Given the description of an element on the screen output the (x, y) to click on. 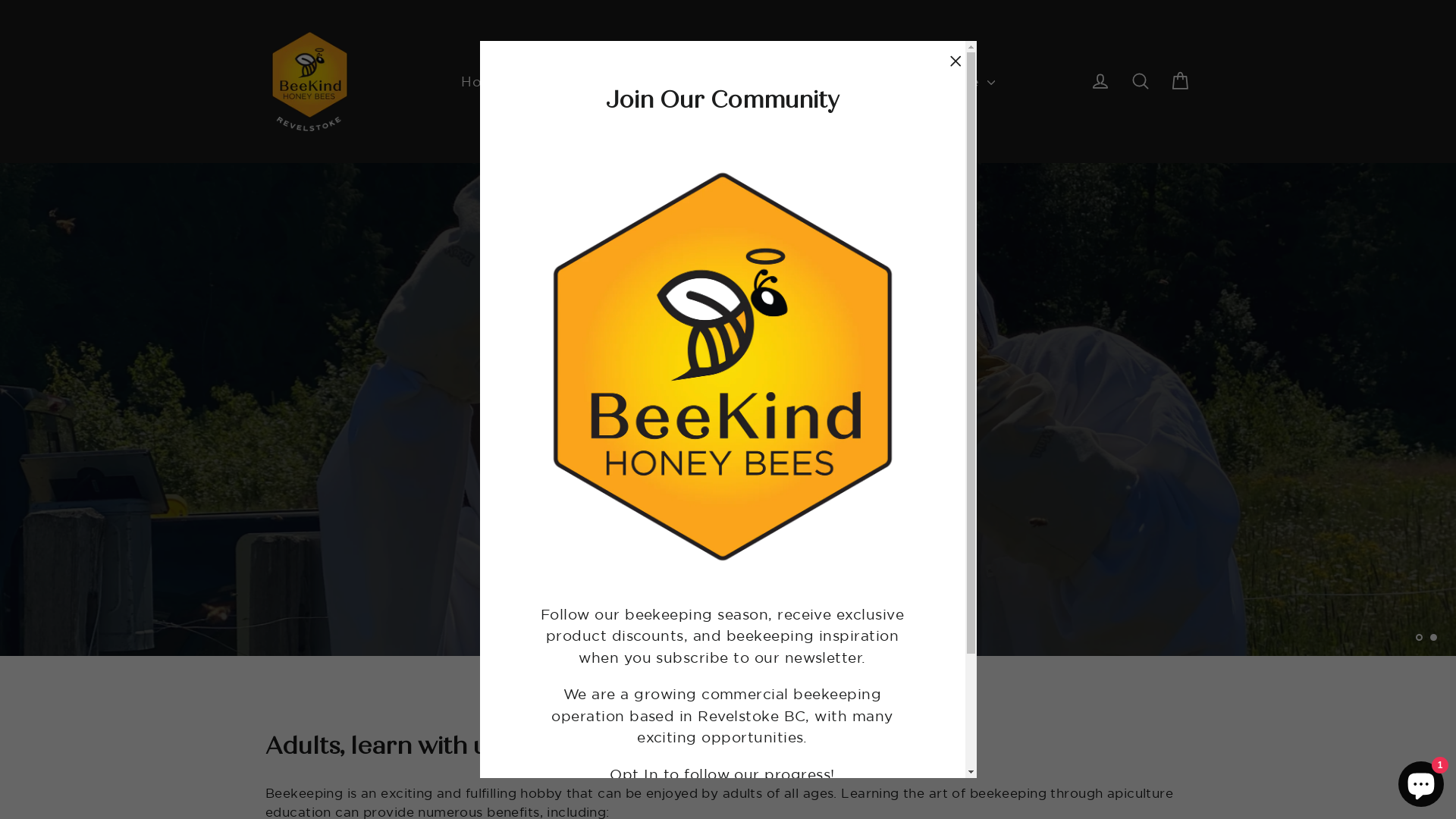
Shopify online store chat Element type: hover (1420, 780)
Services Element type: text (746, 81)
Wholesale Element type: text (949, 81)
About Element type: text (845, 81)
Cart Element type: text (1179, 80)
Search Element type: text (1140, 80)
"Close (esc)" Element type: text (955, 61)
Honey Shop Element type: text (512, 81)
Log in Element type: text (1100, 80)
Bee Shop Element type: text (636, 81)
Skip to content Element type: text (0, 0)
